Given the description of an element on the screen output the (x, y) to click on. 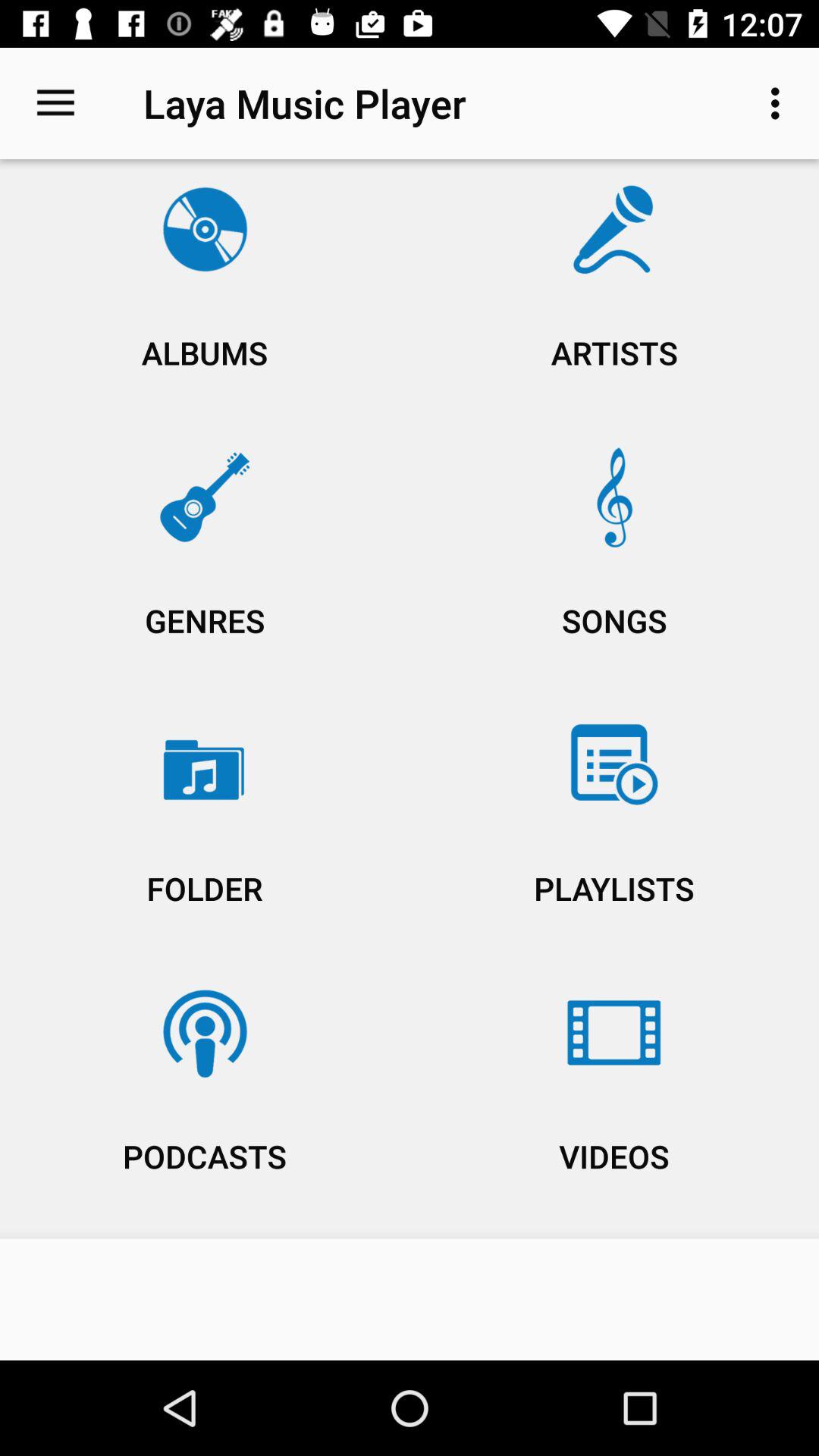
swipe until playlists item (614, 832)
